Given the description of an element on the screen output the (x, y) to click on. 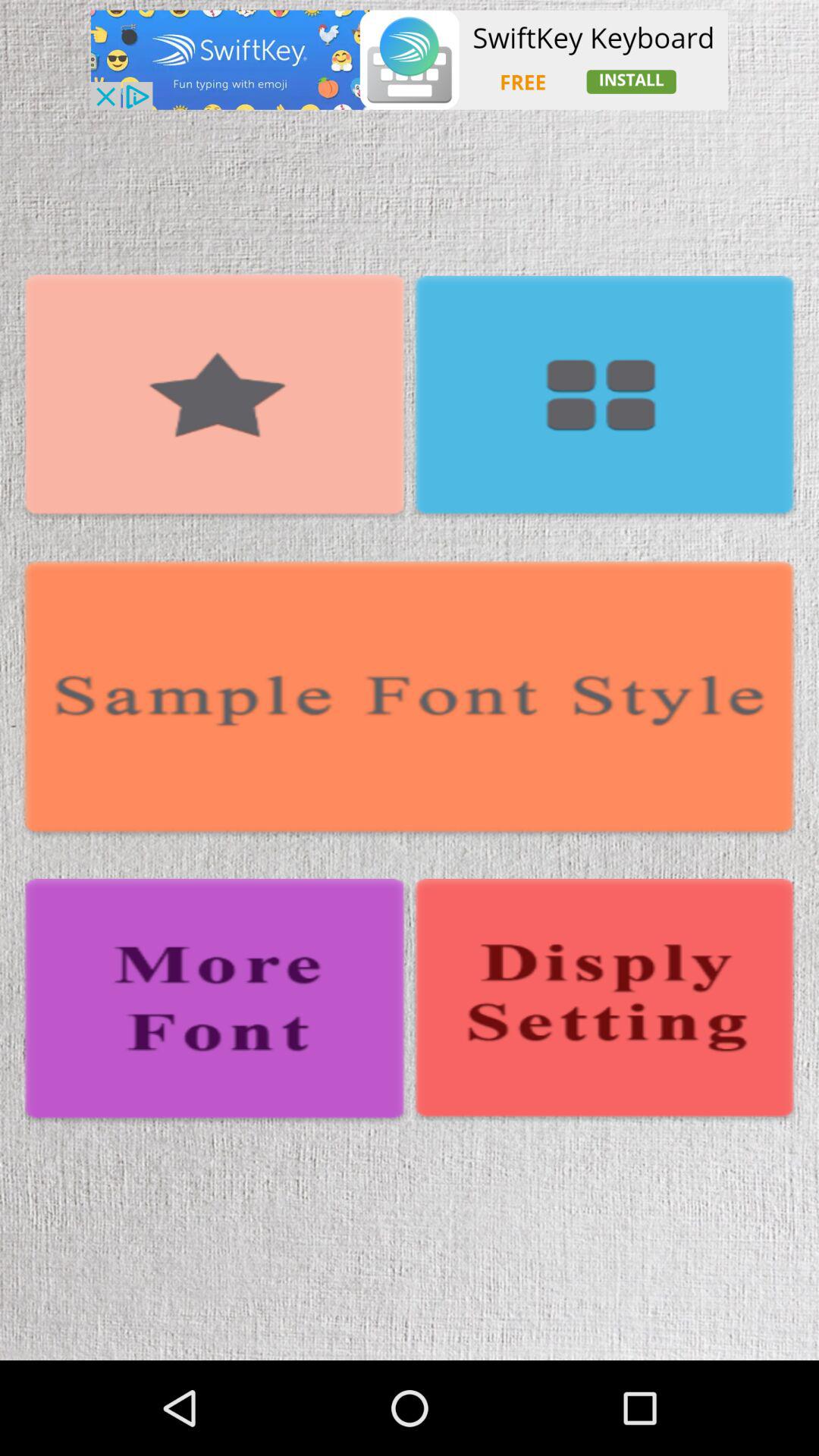
sample font style (409, 699)
